Given the description of an element on the screen output the (x, y) to click on. 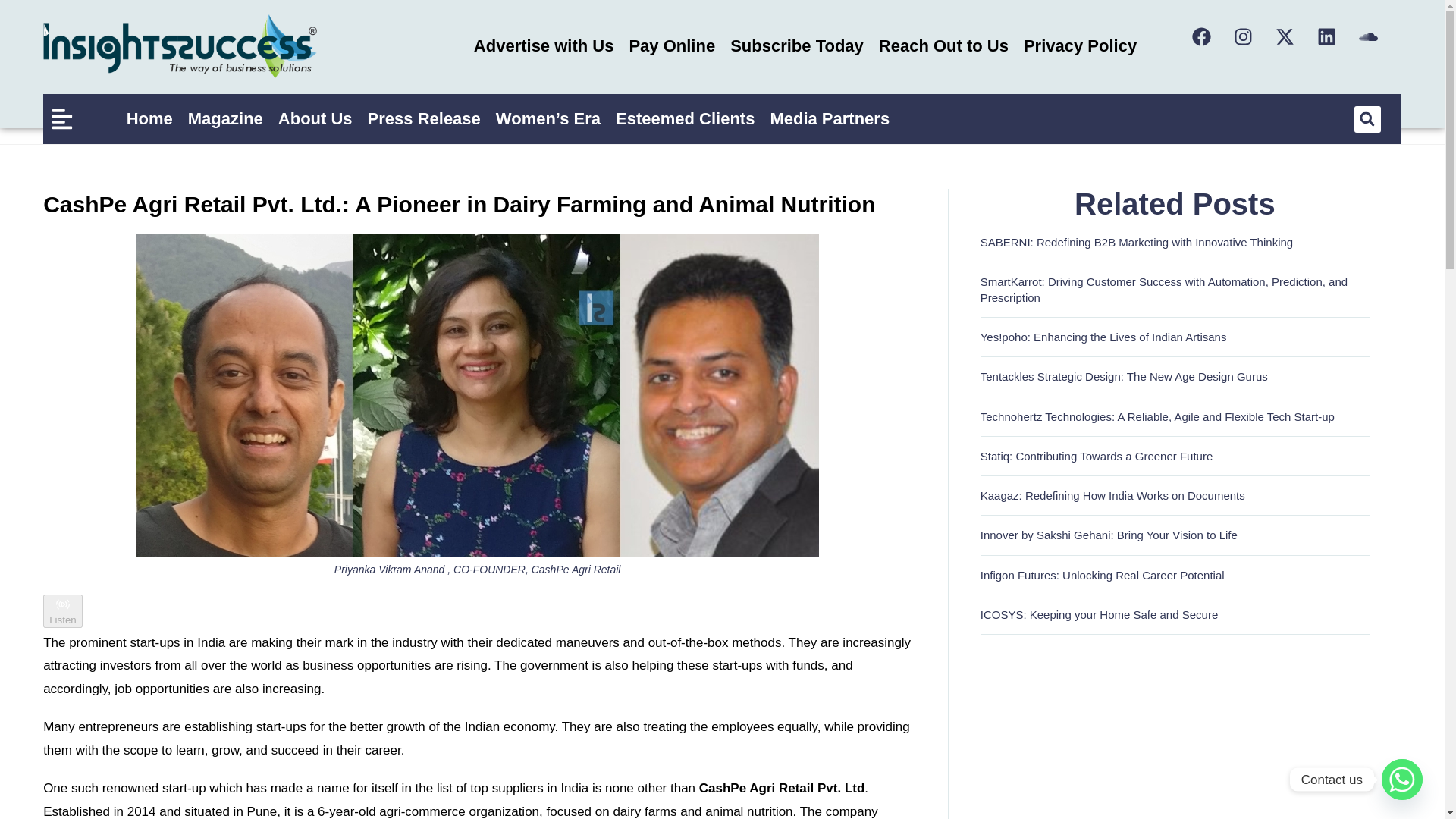
Privacy Policy (1080, 45)
Advertise with Us (543, 45)
Magazine (225, 118)
Pay Online (671, 45)
Reach Out to Us (943, 45)
Press Release (423, 118)
Home (149, 118)
About Us (314, 118)
Media Partners (828, 118)
Subscribe Today (796, 45)
Esteemed Clients (684, 118)
